Given the description of an element on the screen output the (x, y) to click on. 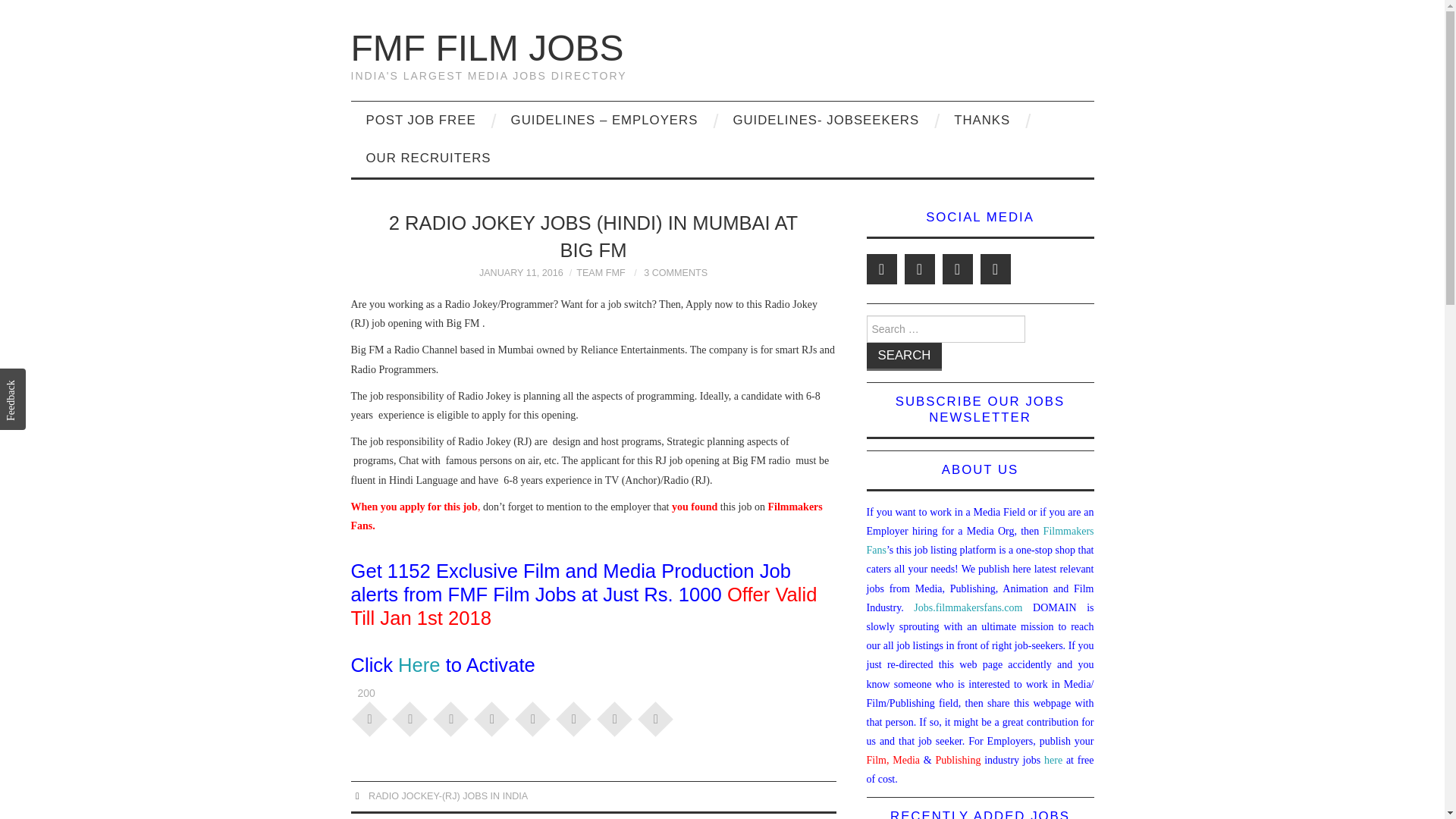
Print (655, 717)
Share on Twitter (409, 717)
TEAM FMF (600, 272)
Twitter (881, 268)
Here (418, 664)
Share on Facebook (370, 717)
Facebook (919, 268)
Search (904, 357)
Share on LinkedIn (533, 717)
Share on Digg (574, 717)
OUR RECRUITERS (427, 158)
Share it on Email (614, 717)
Search (904, 357)
Jobs.filmmakersfans.com (973, 607)
FMF FILM JOBS (486, 47)
